Given the description of an element on the screen output the (x, y) to click on. 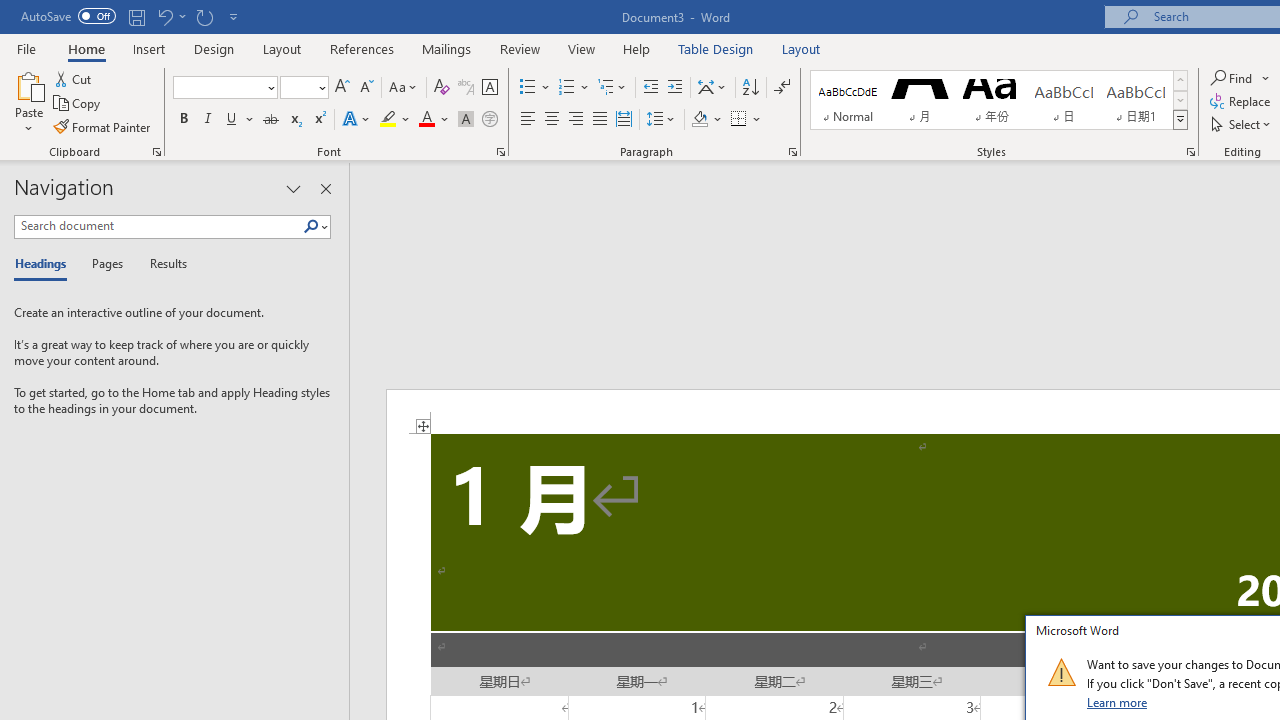
Distributed (623, 119)
Results (161, 264)
Font... (500, 151)
Shading (706, 119)
Character Shading (465, 119)
Headings (45, 264)
